Given the description of an element on the screen output the (x, y) to click on. 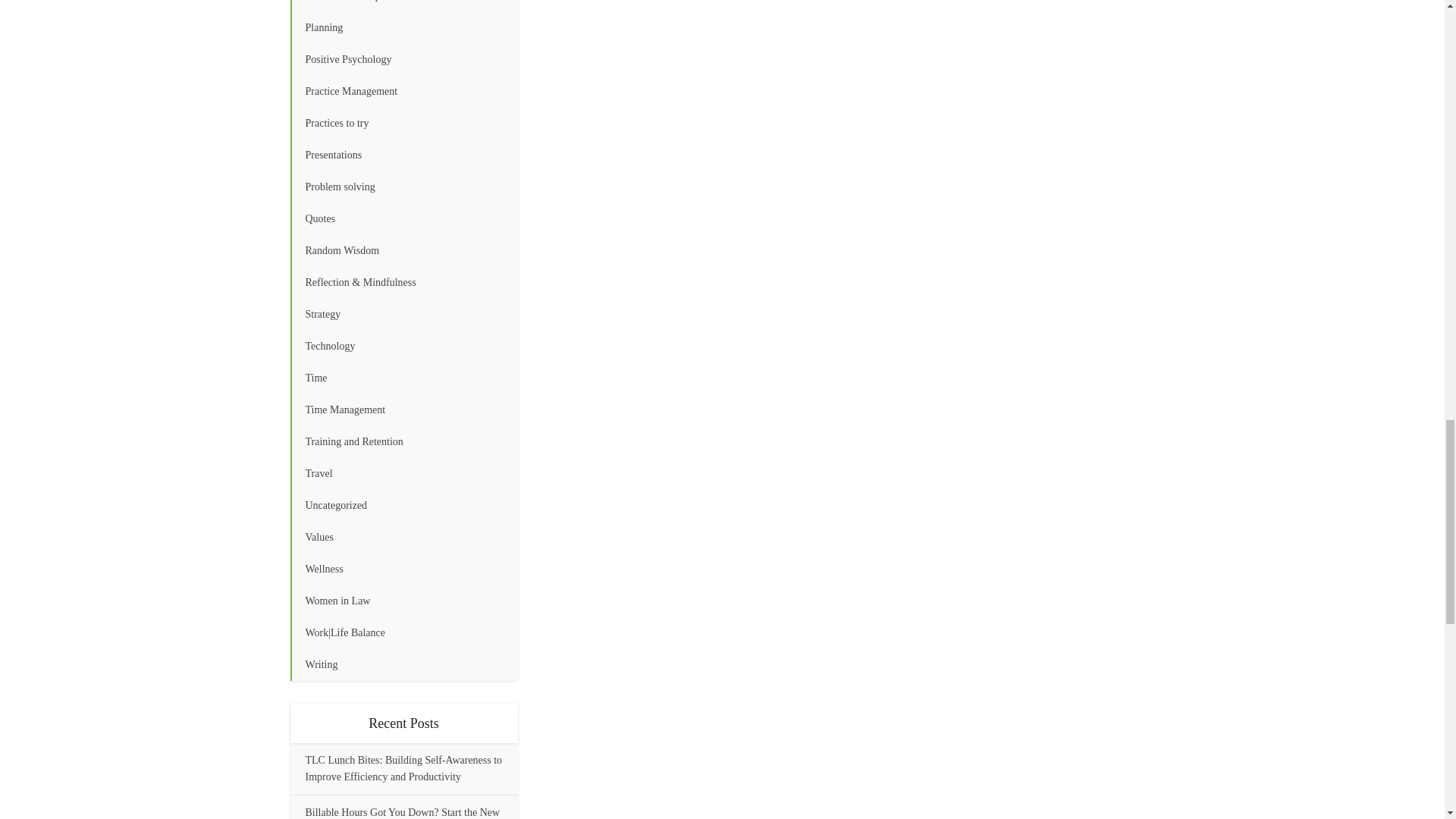
Personal Development (402, 6)
Planning (402, 28)
